Given the description of an element on the screen output the (x, y) to click on. 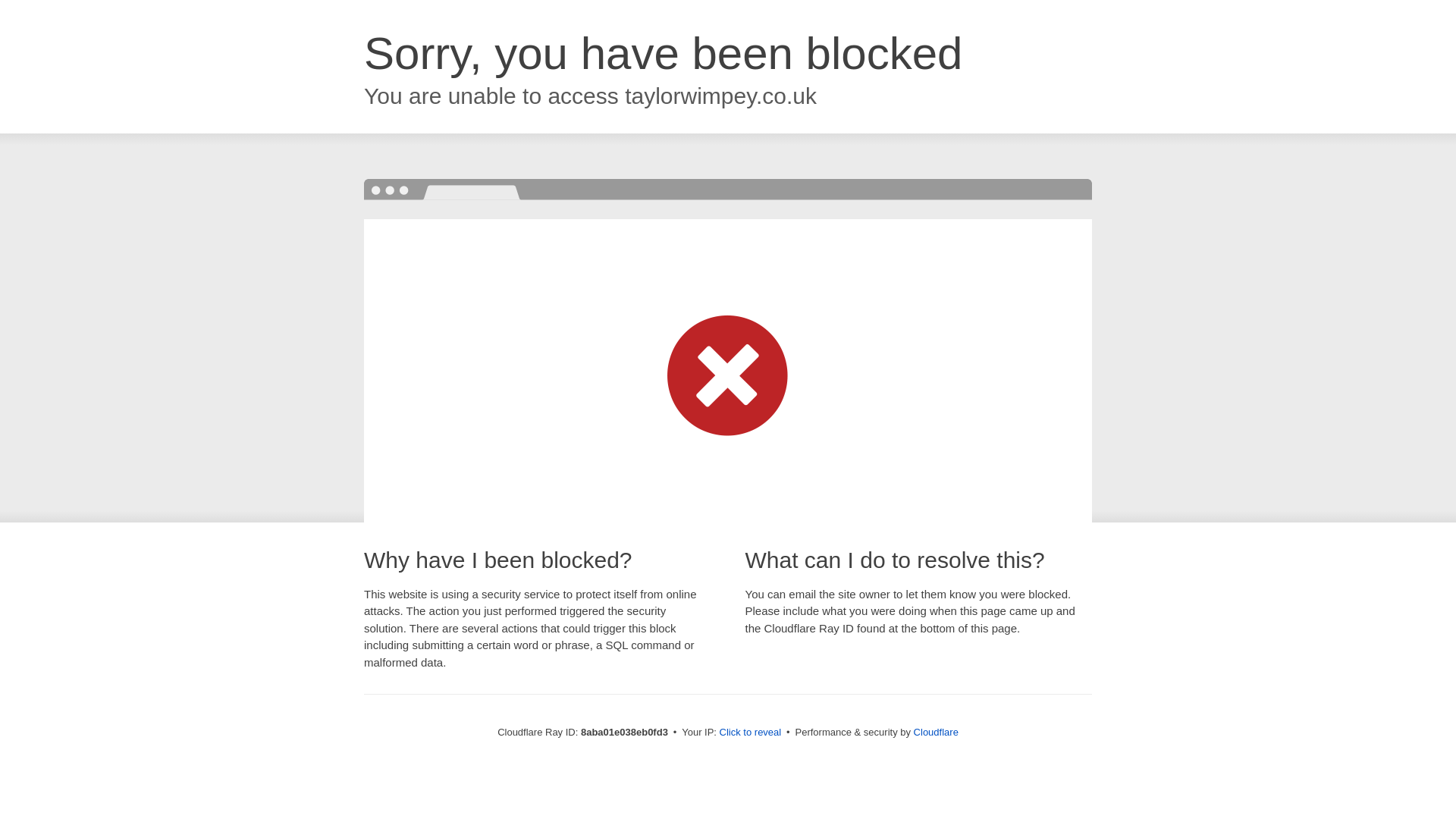
Click to reveal (750, 732)
Cloudflare (936, 731)
